Given the description of an element on the screen output the (x, y) to click on. 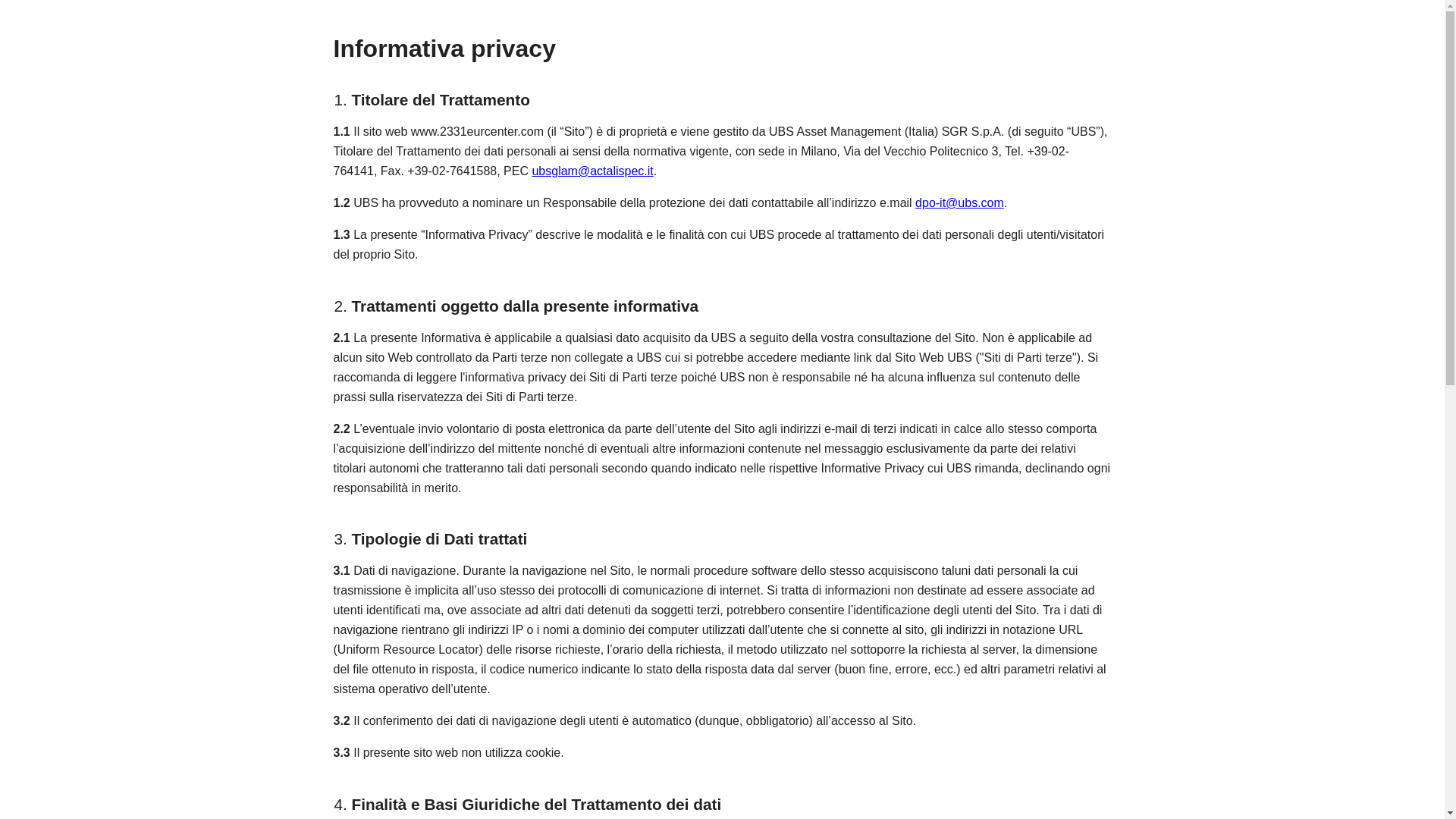
dpo-it@ubs.com Element type: text (959, 202)
ubsglam@actalispec.it Element type: text (591, 170)
